Given the description of an element on the screen output the (x, y) to click on. 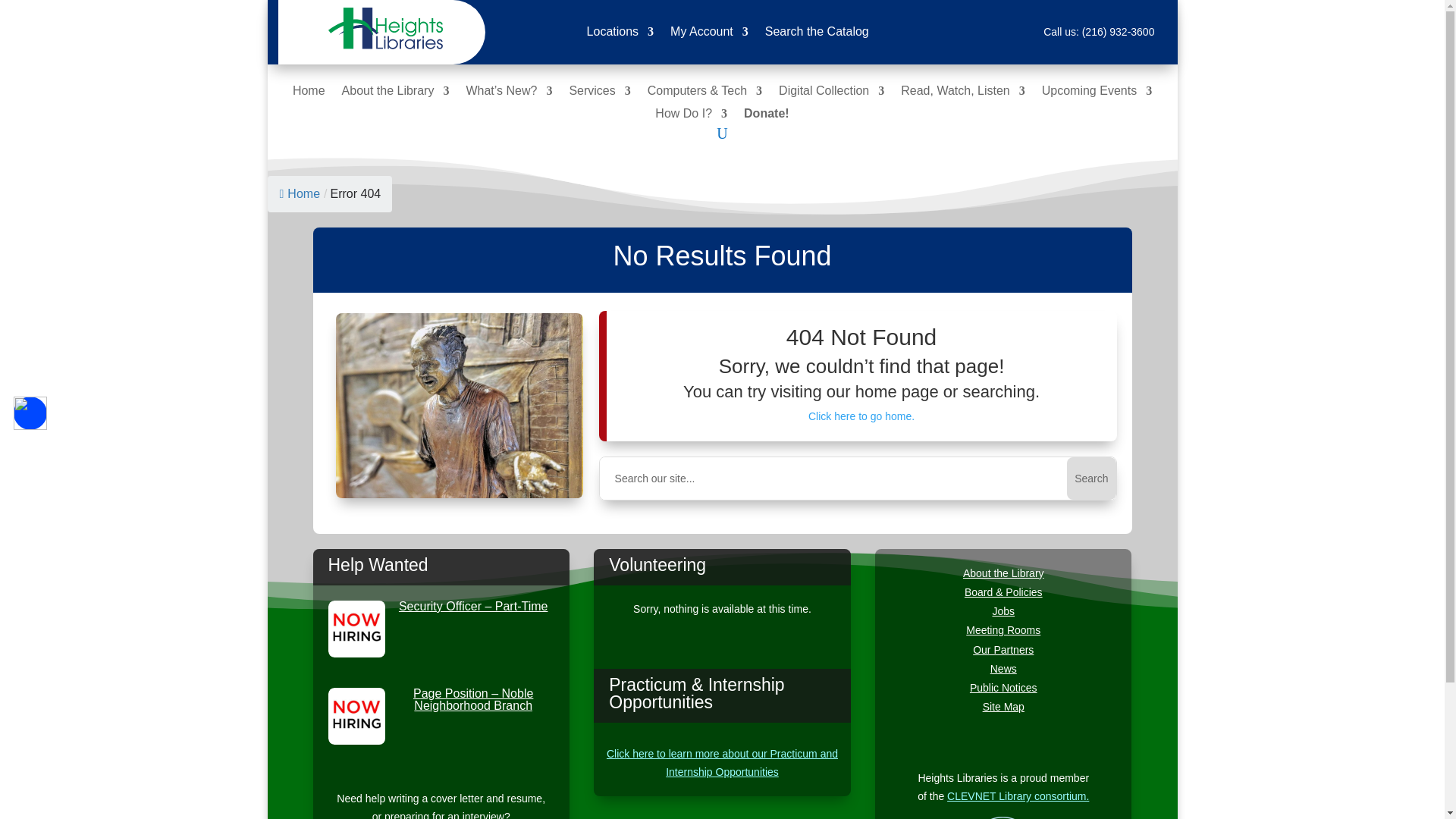
harvey-shrug (459, 404)
Search (1091, 478)
Accessibility Menu (29, 412)
Search the Catalog (817, 34)
My Account (708, 34)
Search (1091, 478)
Home (308, 93)
About the Library (395, 93)
Locations (619, 34)
